Given the description of an element on the screen output the (x, y) to click on. 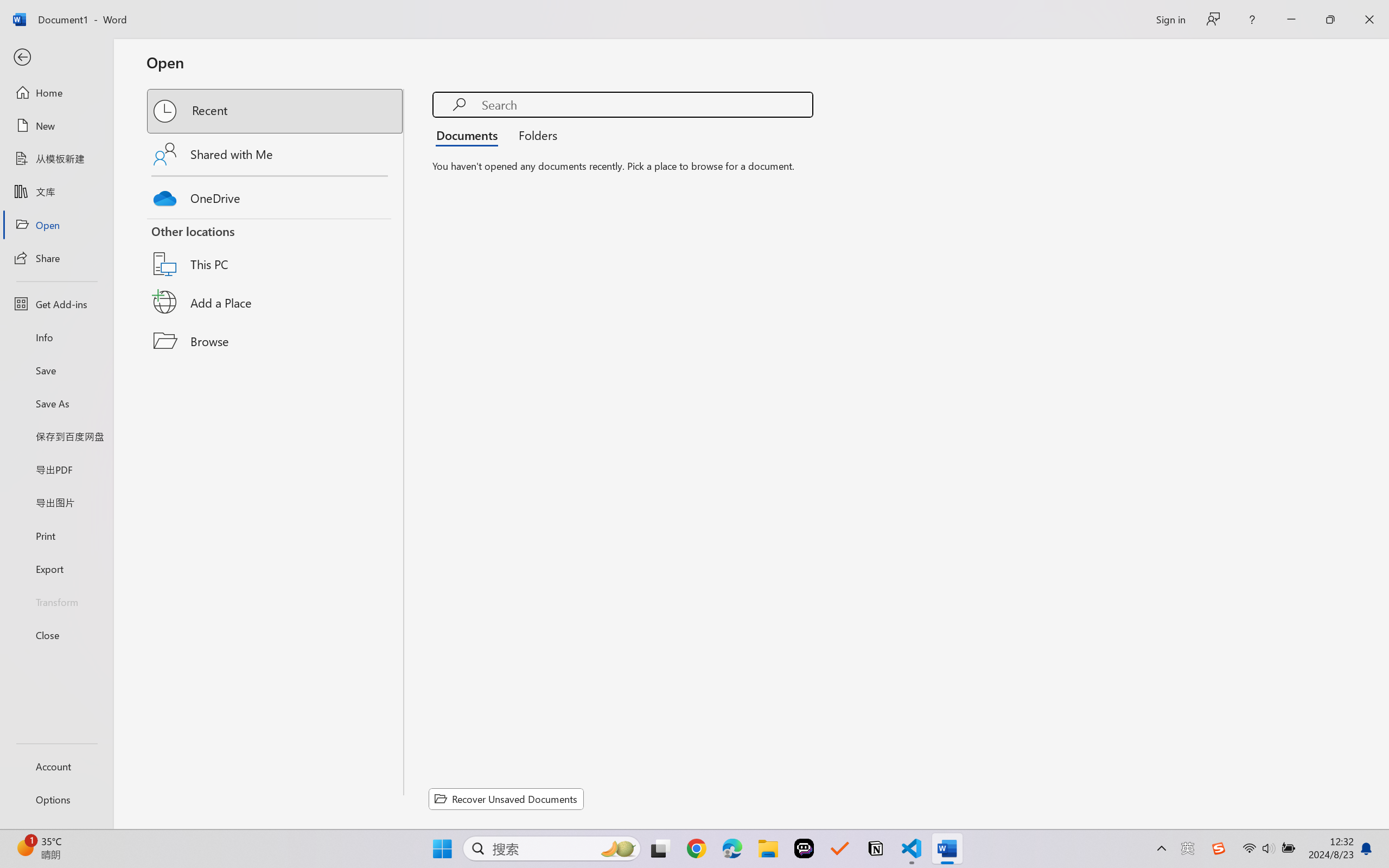
This PC (275, 249)
Shared with Me (275, 153)
Account (56, 765)
OneDrive (275, 195)
Export (56, 568)
Browse (275, 340)
